Given the description of an element on the screen output the (x, y) to click on. 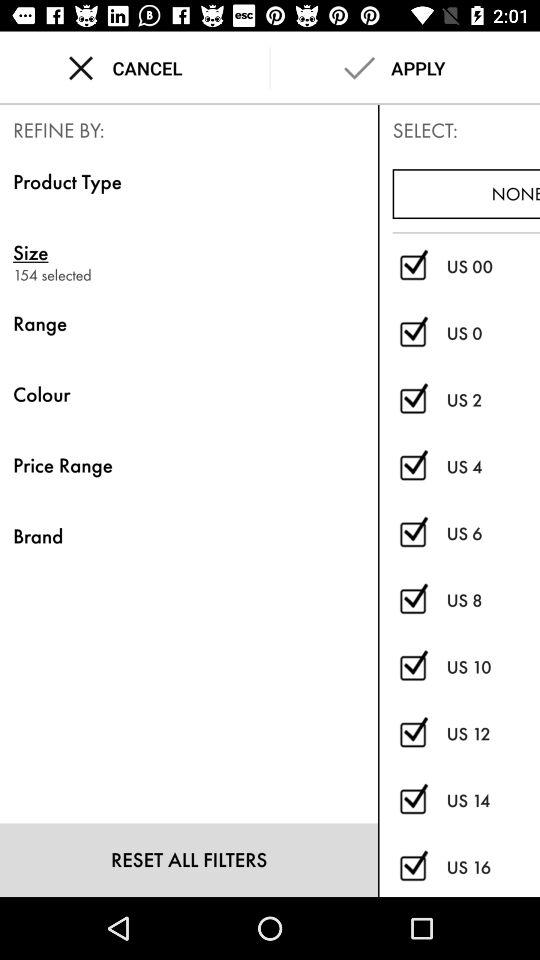
go to about option (412, 600)
